Given the description of an element on the screen output the (x, y) to click on. 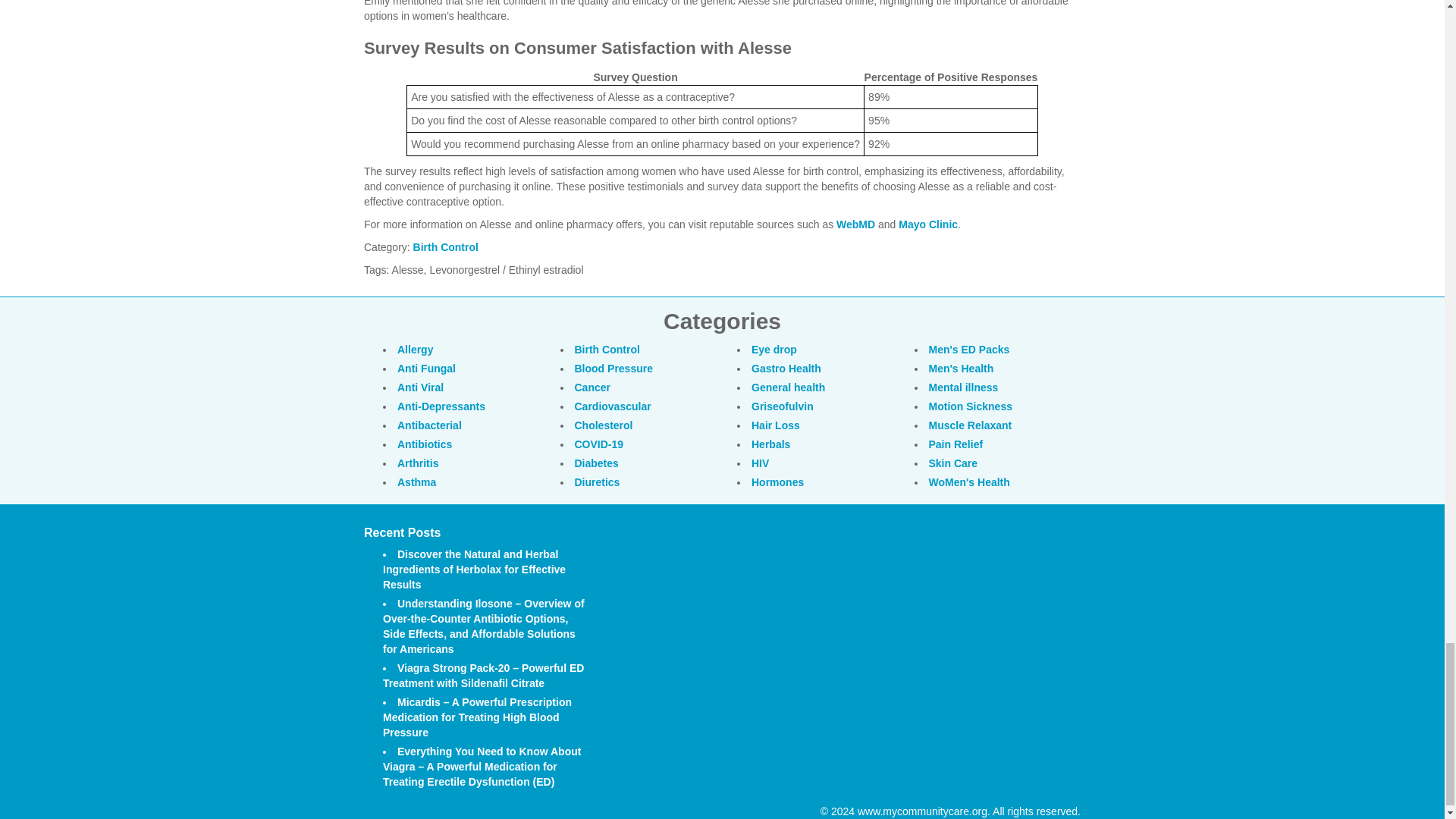
Antibacterial (429, 424)
Asthma (416, 481)
WebMD (855, 224)
Cancer (592, 386)
Cardiovascular (612, 406)
Antibiotics (424, 444)
Arthritis (417, 462)
Anti-Depressants (440, 406)
Birth Control (607, 348)
Mayo Clinic (928, 224)
